Given the description of an element on the screen output the (x, y) to click on. 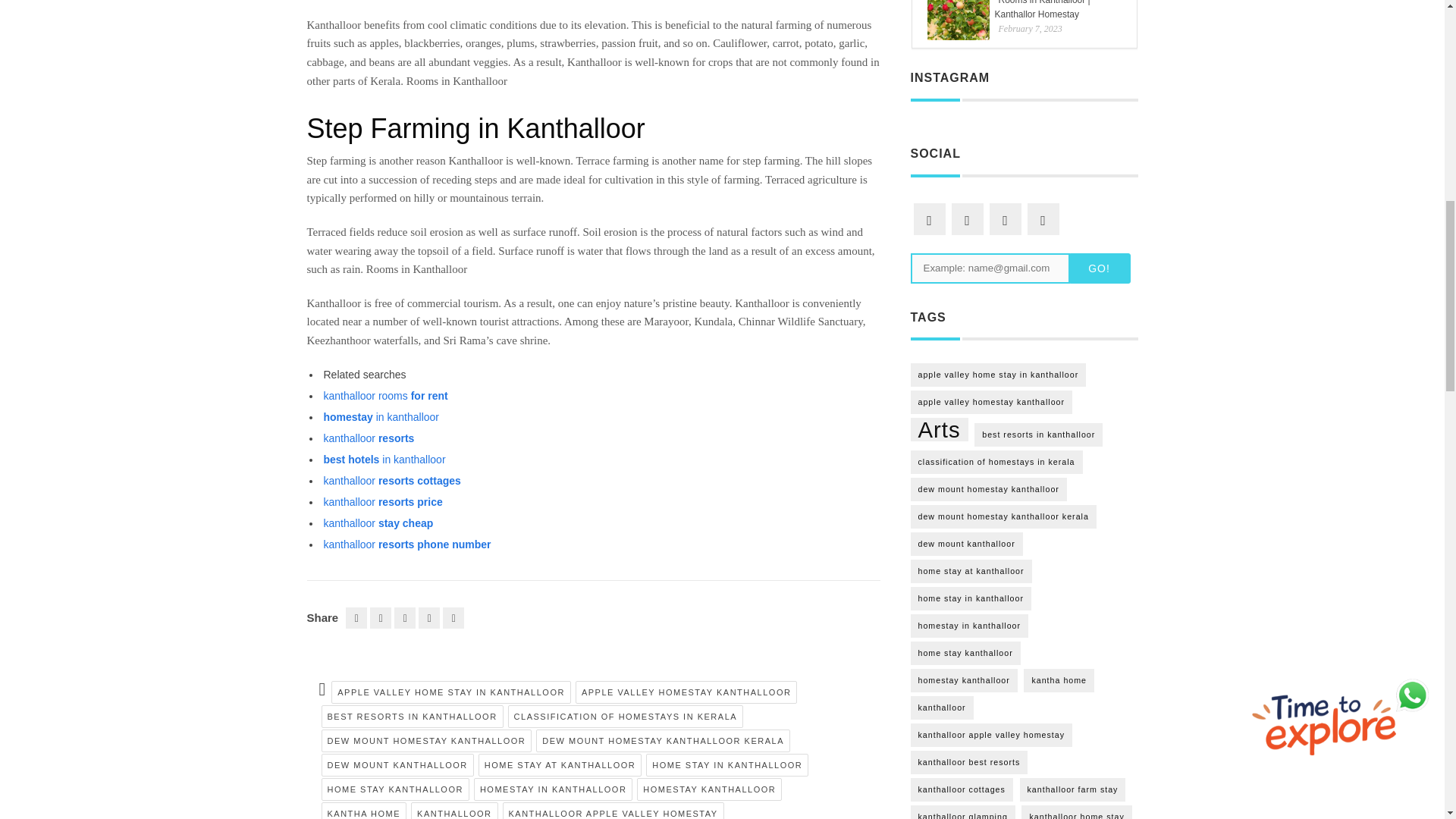
kanthalloor resorts price (382, 501)
kanthalloor rooms for rent (384, 395)
kanthalloor stay cheap (377, 522)
kanthalloor resorts phone number (406, 544)
kanthalloor resorts (368, 438)
homestay in kanthalloor (381, 417)
best hotels in kanthalloor (384, 459)
kanthalloor resorts cottages (391, 480)
